Given the description of an element on the screen output the (x, y) to click on. 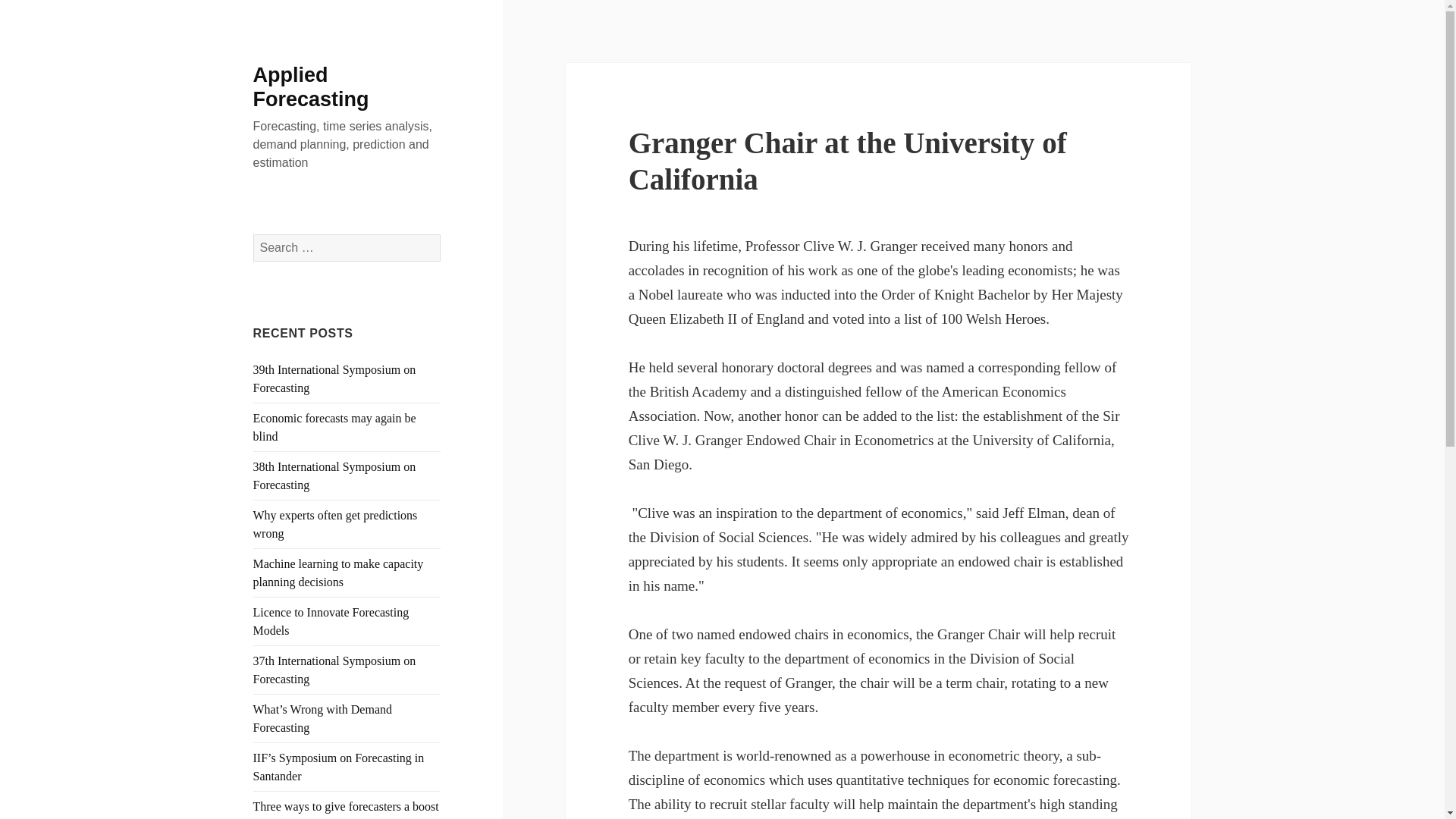
Licence to Innovate Forecasting Models (331, 621)
Three ways to give forecasters a boost (346, 806)
37th International Symposium on Forecasting (334, 669)
Why experts often get predictions wrong (335, 523)
39th International Symposium on Forecasting (334, 378)
Economic forecasts may again be blind (334, 427)
Machine learning to make capacity planning decisions (338, 572)
